Given the description of an element on the screen output the (x, y) to click on. 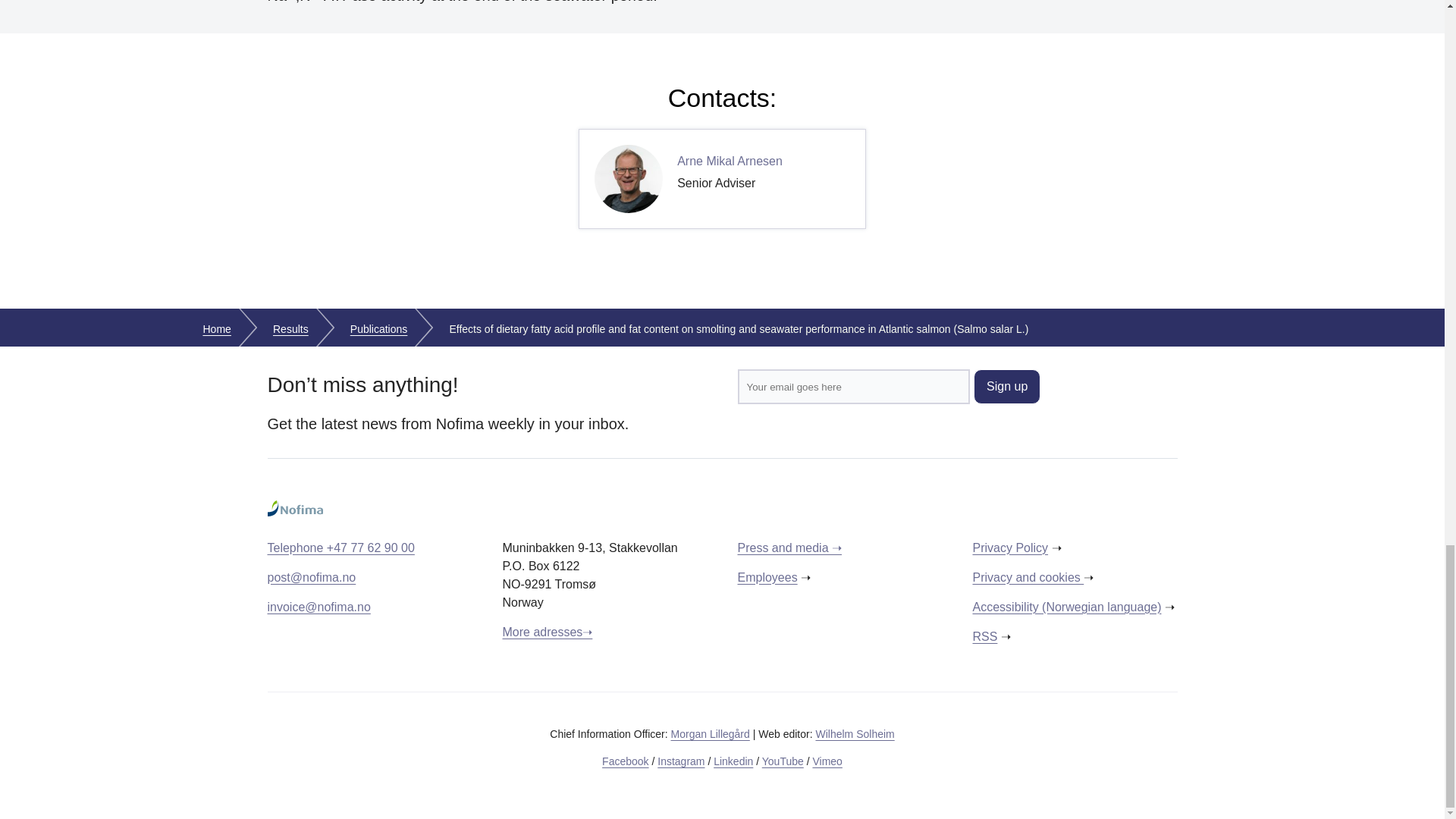
Sign up (722, 178)
Go to Nofima. (1007, 386)
Home (217, 329)
Go to Results. (217, 329)
Go to Publications. (290, 329)
Publications (378, 329)
YouTube (378, 329)
Vimeo (782, 761)
Sign up (826, 761)
